Given the description of an element on the screen output the (x, y) to click on. 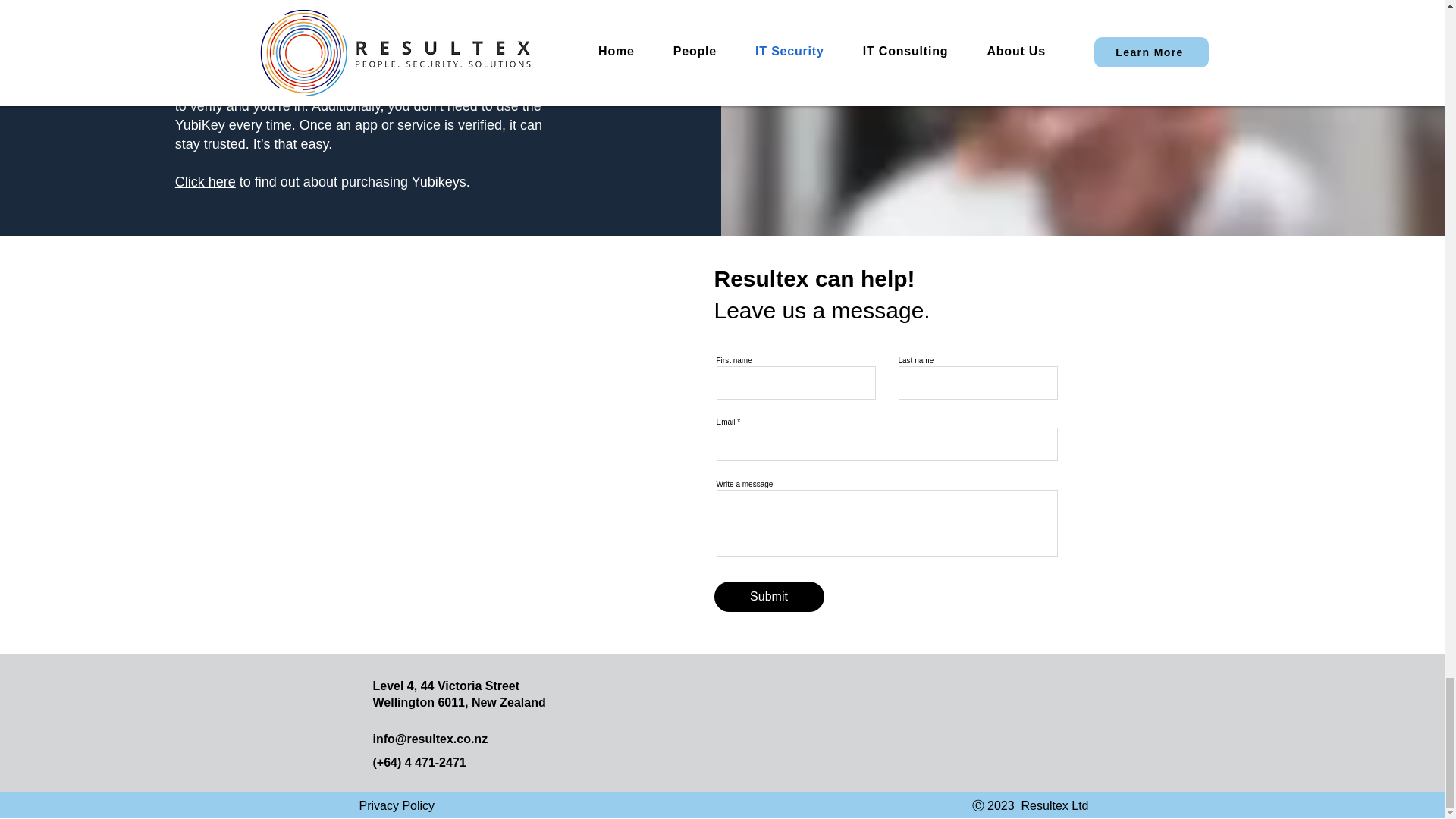
Click here (204, 181)
Privacy Policy (397, 805)
Submit (769, 596)
